Given the description of an element on the screen output the (x, y) to click on. 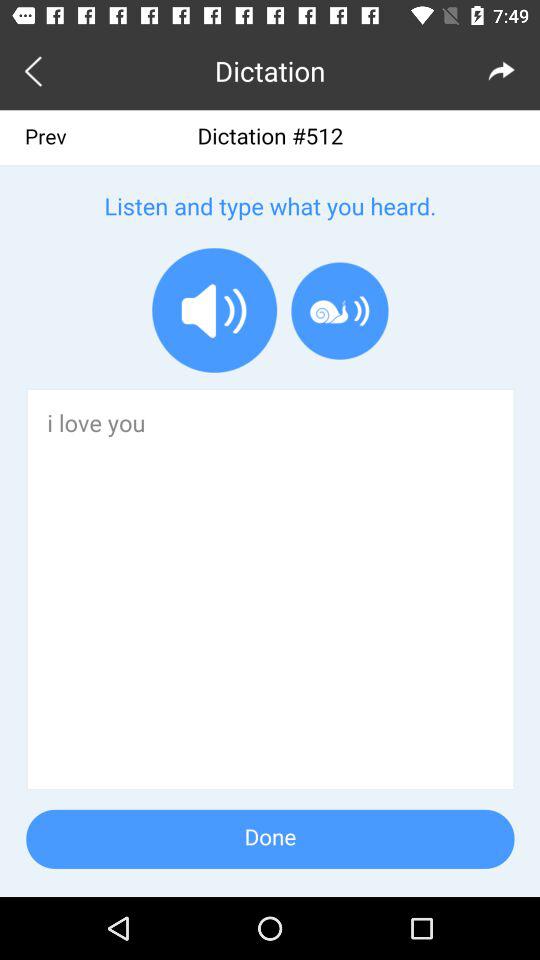
select done (270, 503)
